Given the description of an element on the screen output the (x, y) to click on. 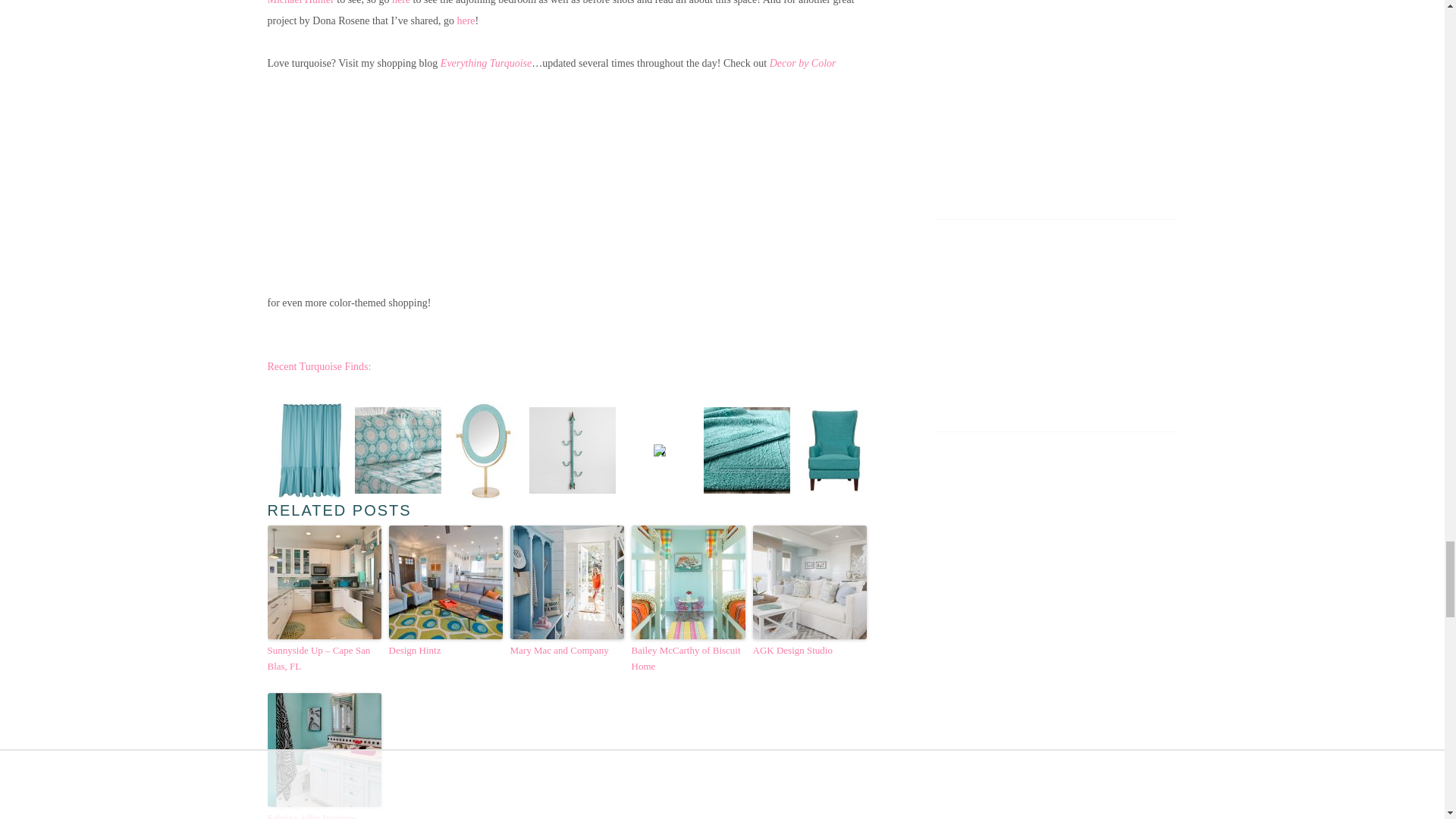
here (400, 2)
here (465, 20)
Recent Turquoise Finds: (318, 366)
Design Hintz (445, 650)
Decor by Color (802, 62)
Everything Turquoise (486, 62)
Michael Hunter (299, 2)
